Given the description of an element on the screen output the (x, y) to click on. 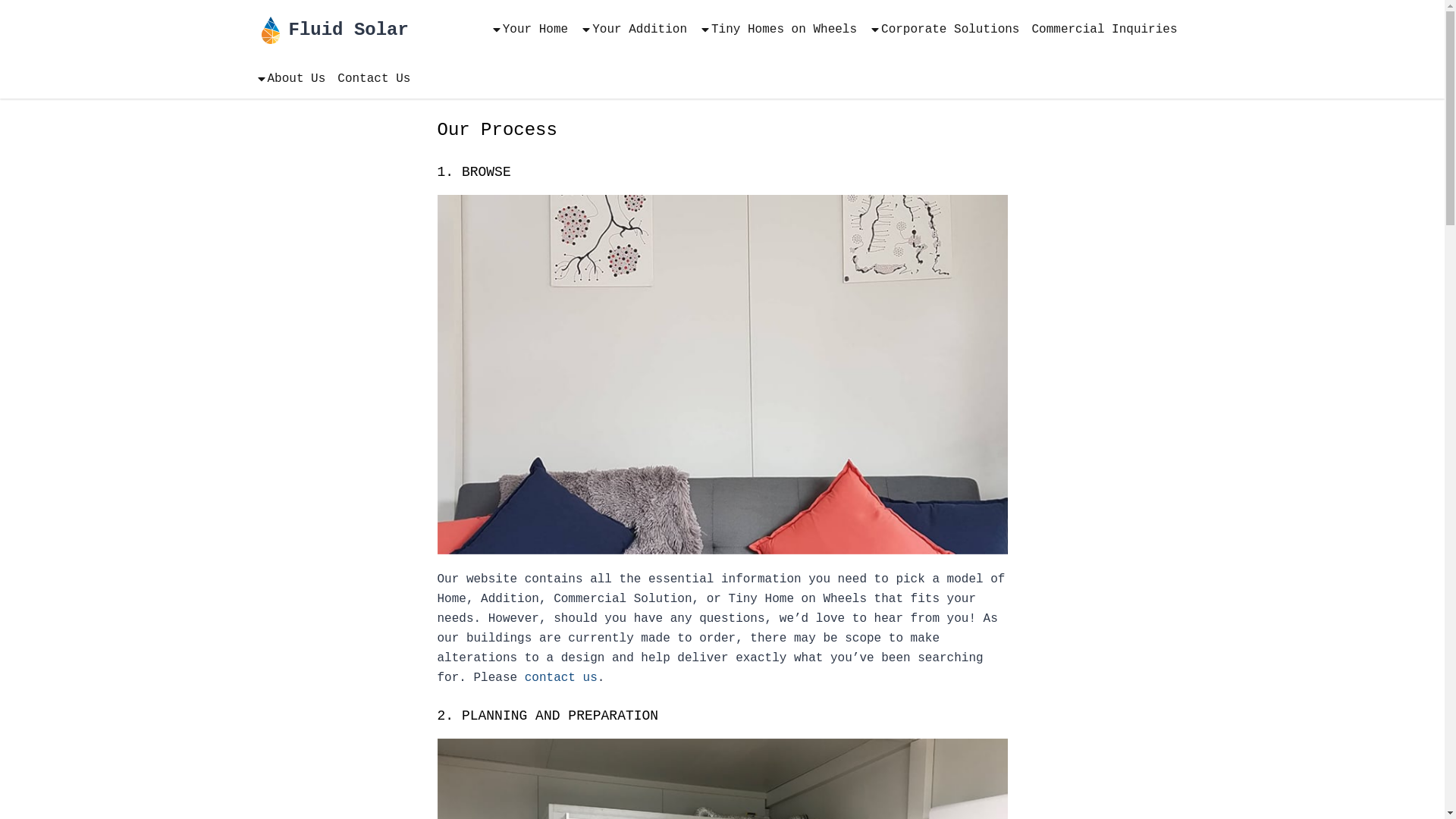
Fluid Solar Element type: text (330, 29)
Your Home Element type: text (528, 30)
Corporate Solutions Element type: text (944, 30)
Commercial Inquiries Element type: text (1103, 30)
contact us Element type: text (560, 677)
Your Addition Element type: text (633, 30)
Contact Us Element type: text (373, 79)
About Us Element type: text (289, 79)
Tiny Homes on Wheels Element type: text (777, 30)
